Given the description of an element on the screen output the (x, y) to click on. 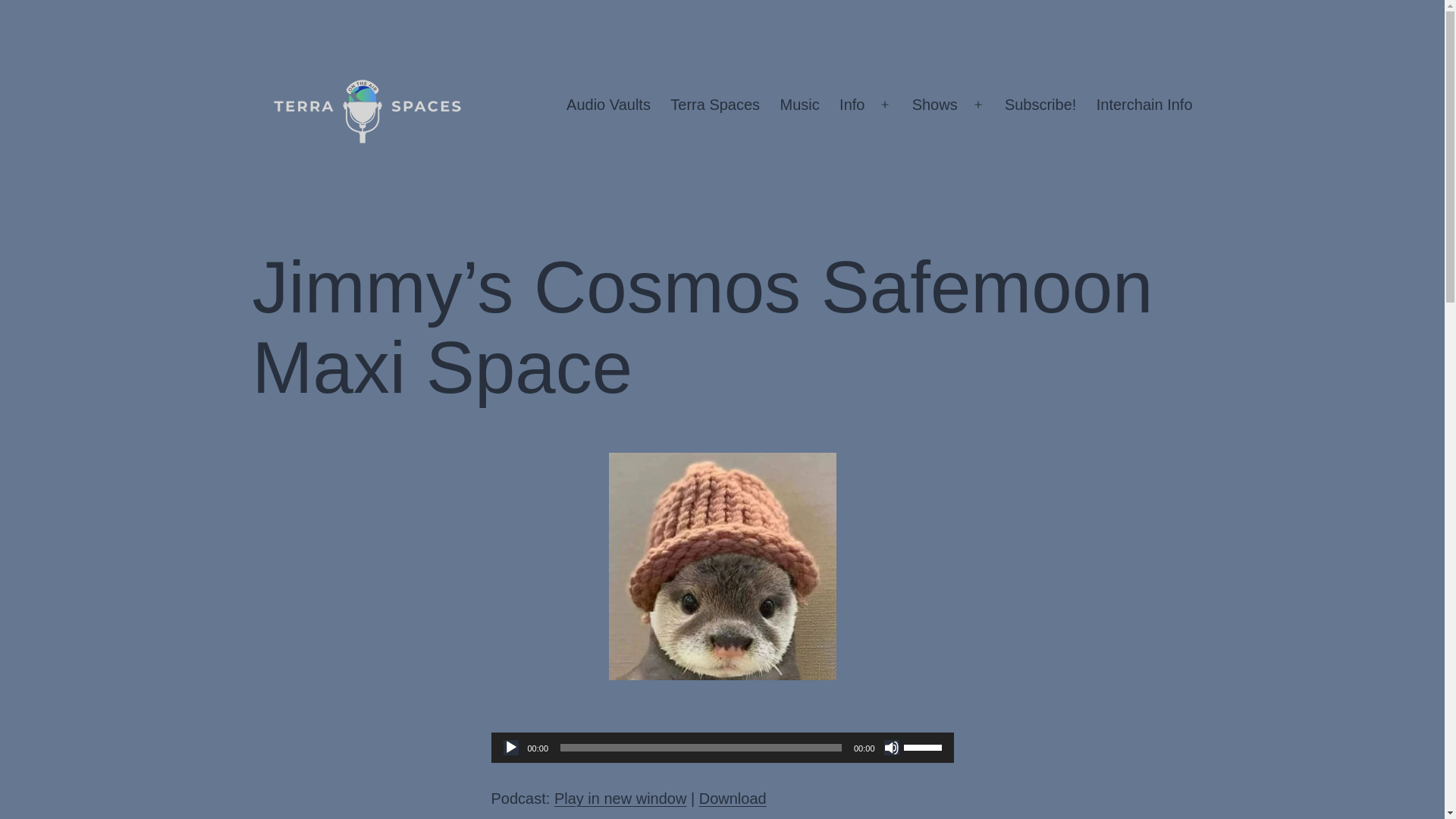
Play (510, 747)
Play in new window (620, 798)
Audio Vaults (608, 105)
Subscribe! (1040, 105)
Music (799, 105)
Shows (933, 105)
Mute (891, 747)
Download (732, 798)
Info (852, 105)
Terra Spaces (715, 105)
